Given the description of an element on the screen output the (x, y) to click on. 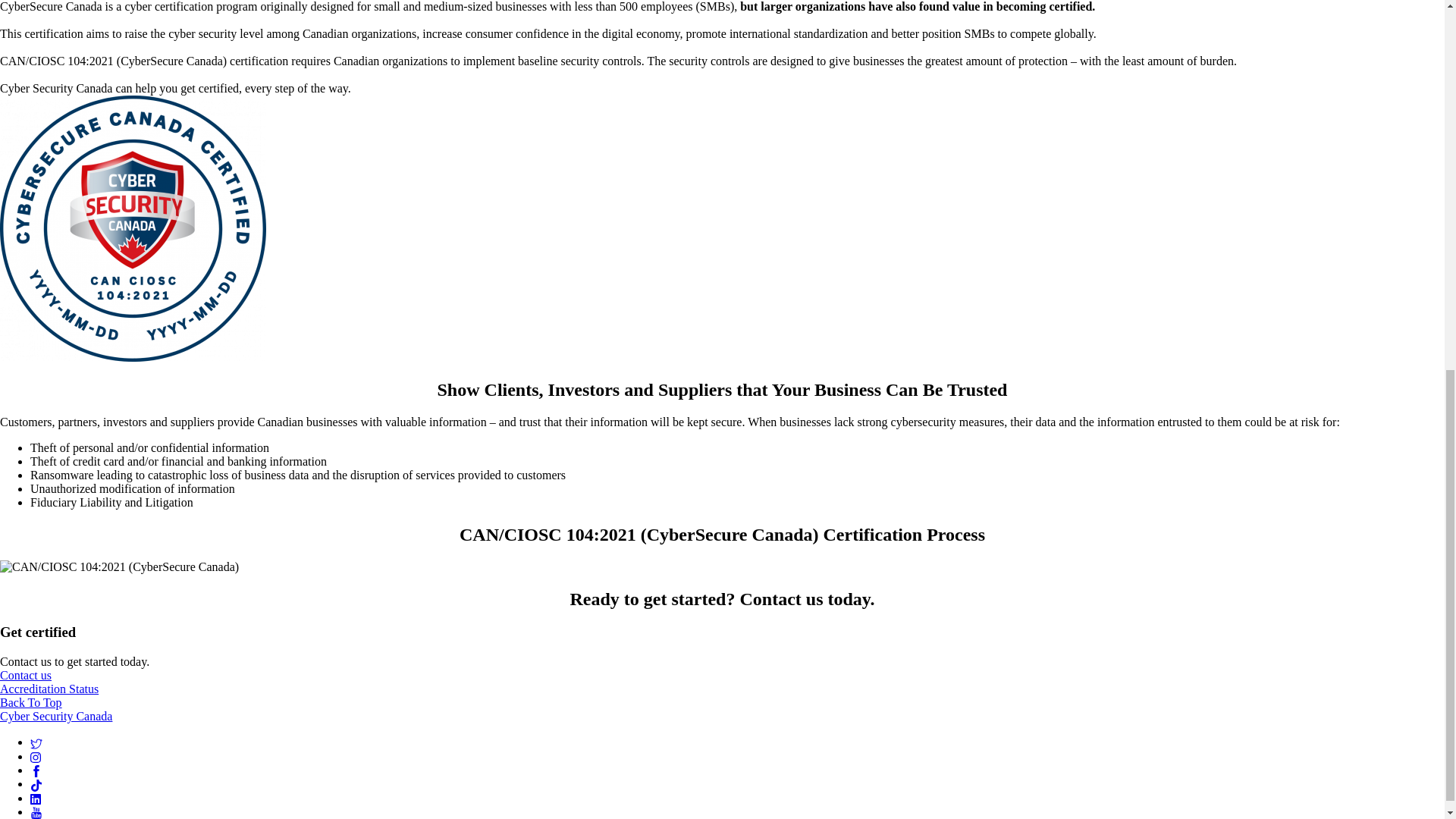
CyberSecure Canada New Badge (133, 228)
Audit Process (119, 567)
Back To Top (31, 702)
Cyber Security Canada (56, 716)
Contact us (25, 675)
Accreditation Status (49, 689)
